Given the description of an element on the screen output the (x, y) to click on. 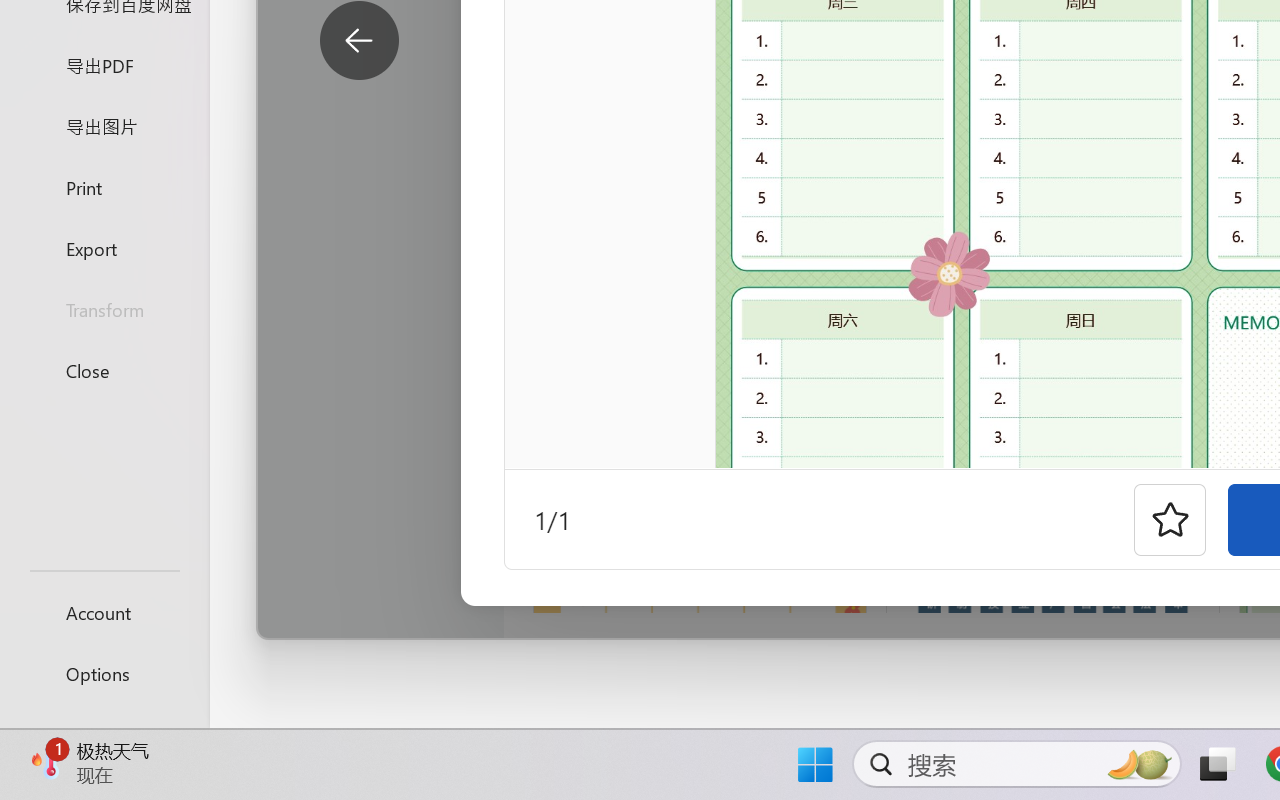
Export (104, 248)
Account (104, 612)
Transform (104, 309)
Options (104, 673)
Print (104, 186)
